Given the description of an element on the screen output the (x, y) to click on. 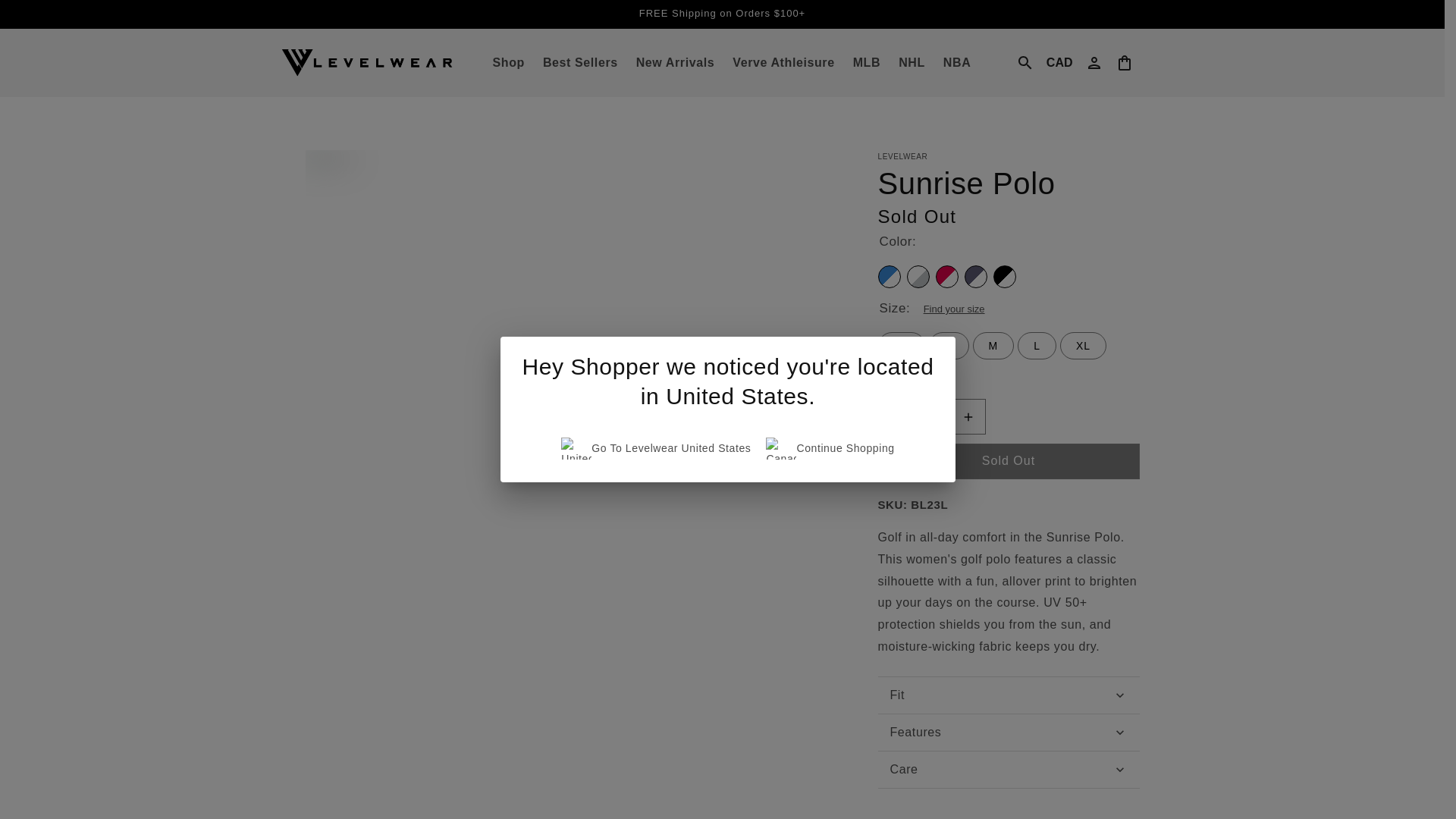
Shop (508, 62)
Find your size (952, 309)
Verve Athleisure (783, 62)
Best Sellers (580, 62)
New Arrivals (675, 62)
MLB (866, 62)
1 (931, 416)
Language (1059, 62)
